Given the description of an element on the screen output the (x, y) to click on. 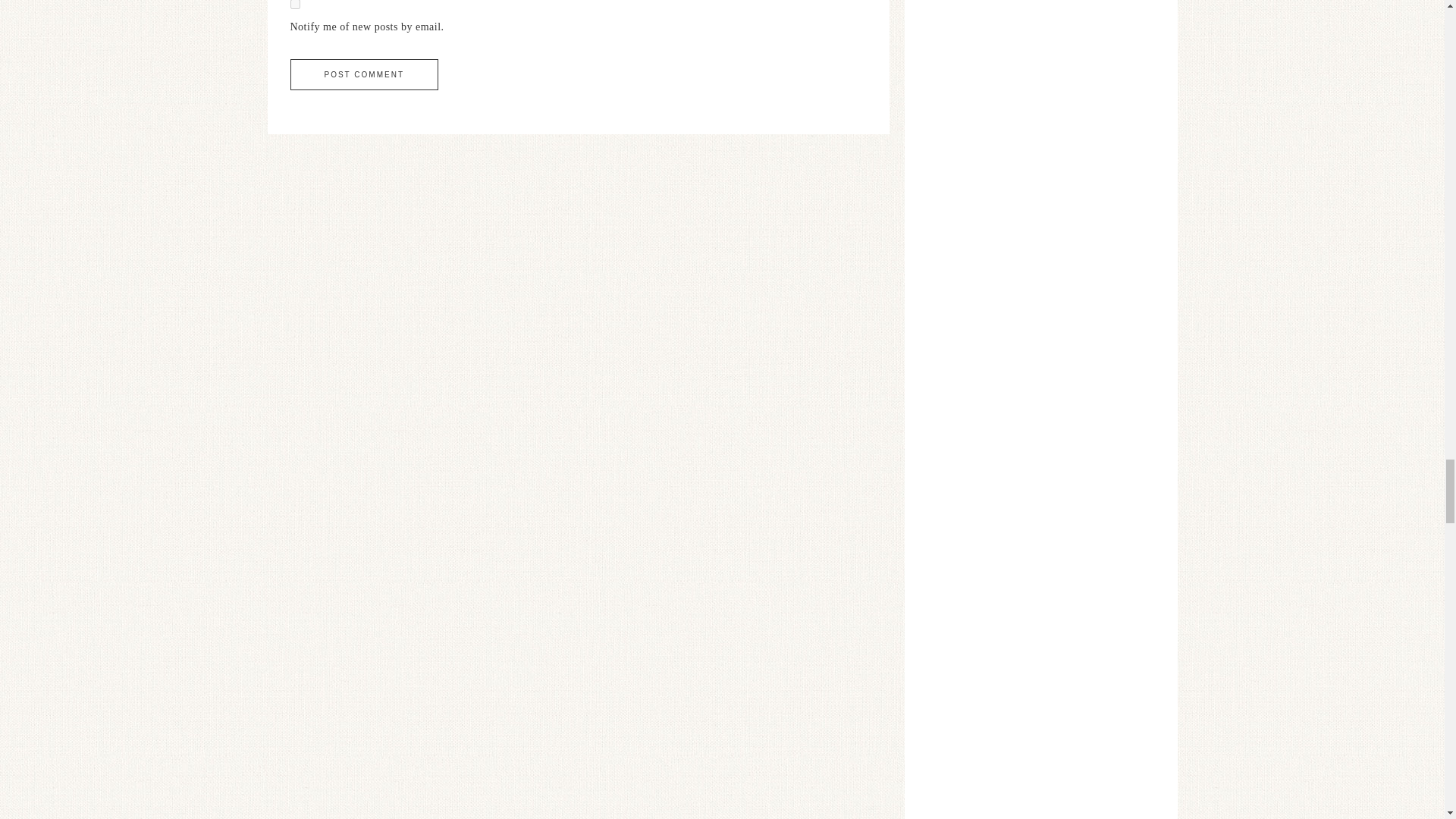
Post Comment (363, 74)
subscribe (294, 4)
Post Comment (363, 74)
